Given the description of an element on the screen output the (x, y) to click on. 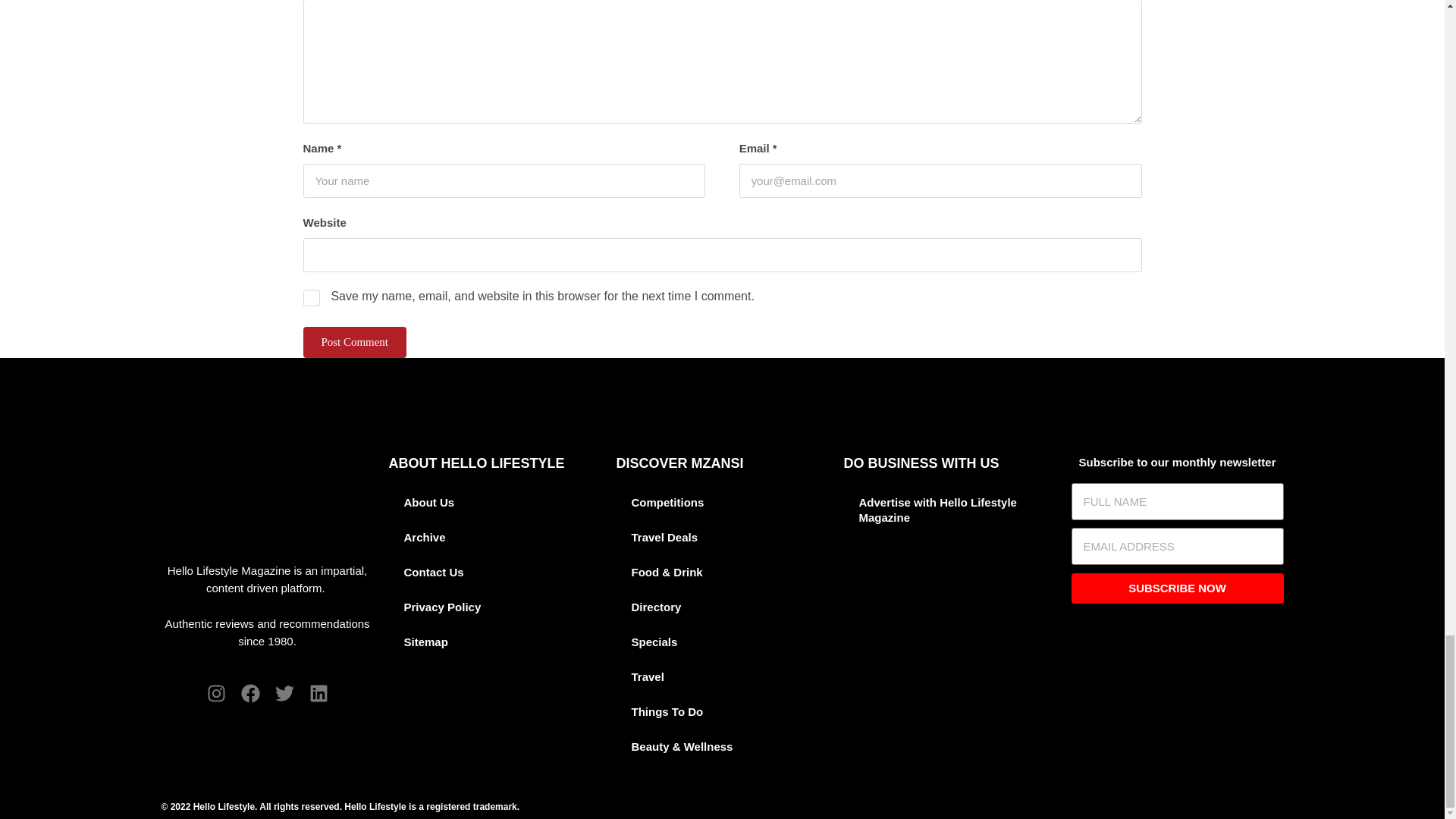
Post Comment (354, 341)
yes (311, 297)
